Given the description of an element on the screen output the (x, y) to click on. 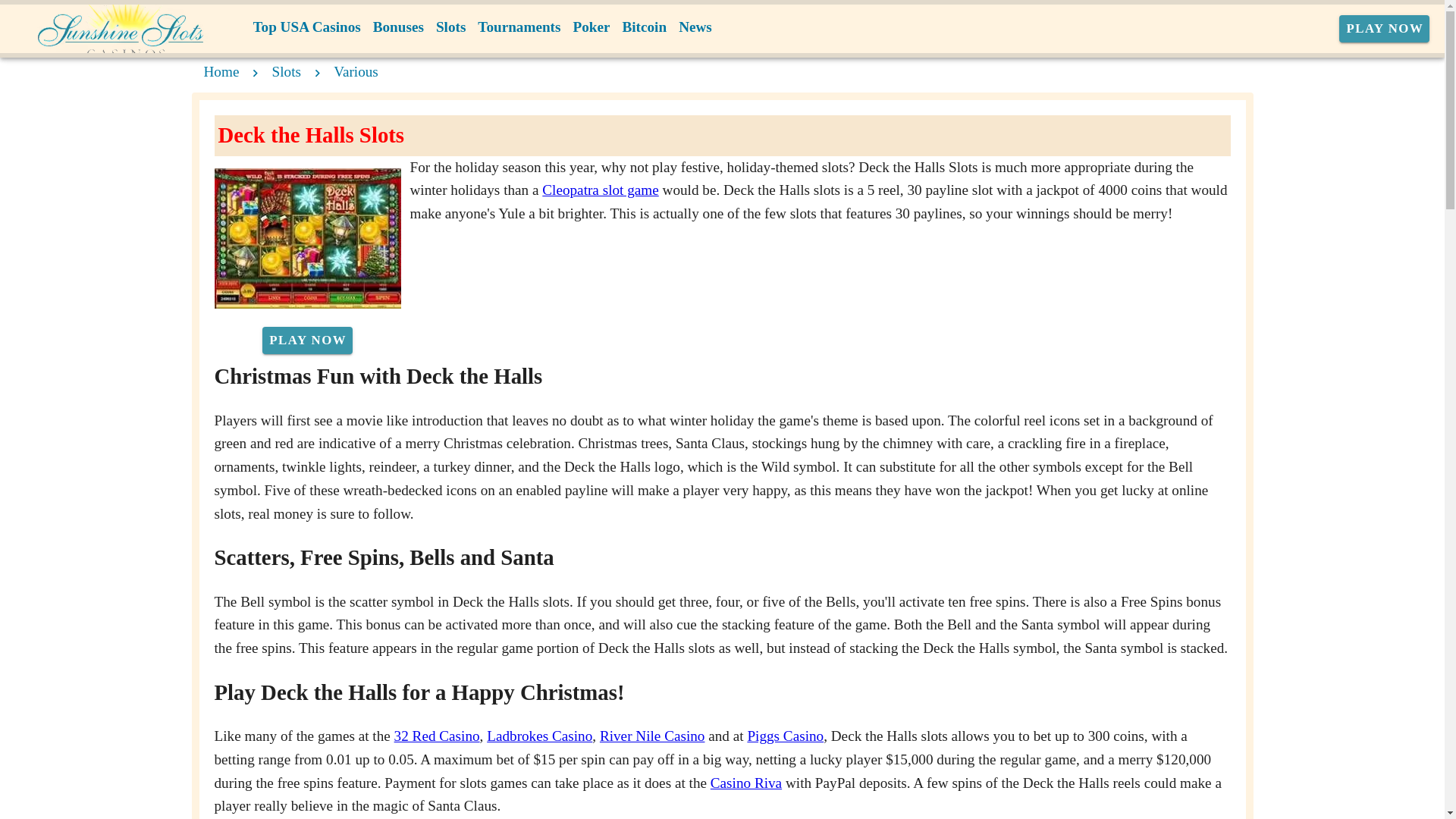
News (694, 27)
River Nile Casino (651, 735)
Slots (286, 71)
Slots (450, 27)
Poker (590, 27)
Top USA Casinos (306, 27)
Tournaments (518, 27)
PLAY NOW (307, 339)
32 Red Casino (437, 735)
Bitcoin (643, 27)
Ladbrokes Casino (539, 735)
Casino Riva (745, 782)
Various (355, 71)
Bonuses (397, 27)
Cleopatra slot game (599, 189)
